Given the description of an element on the screen output the (x, y) to click on. 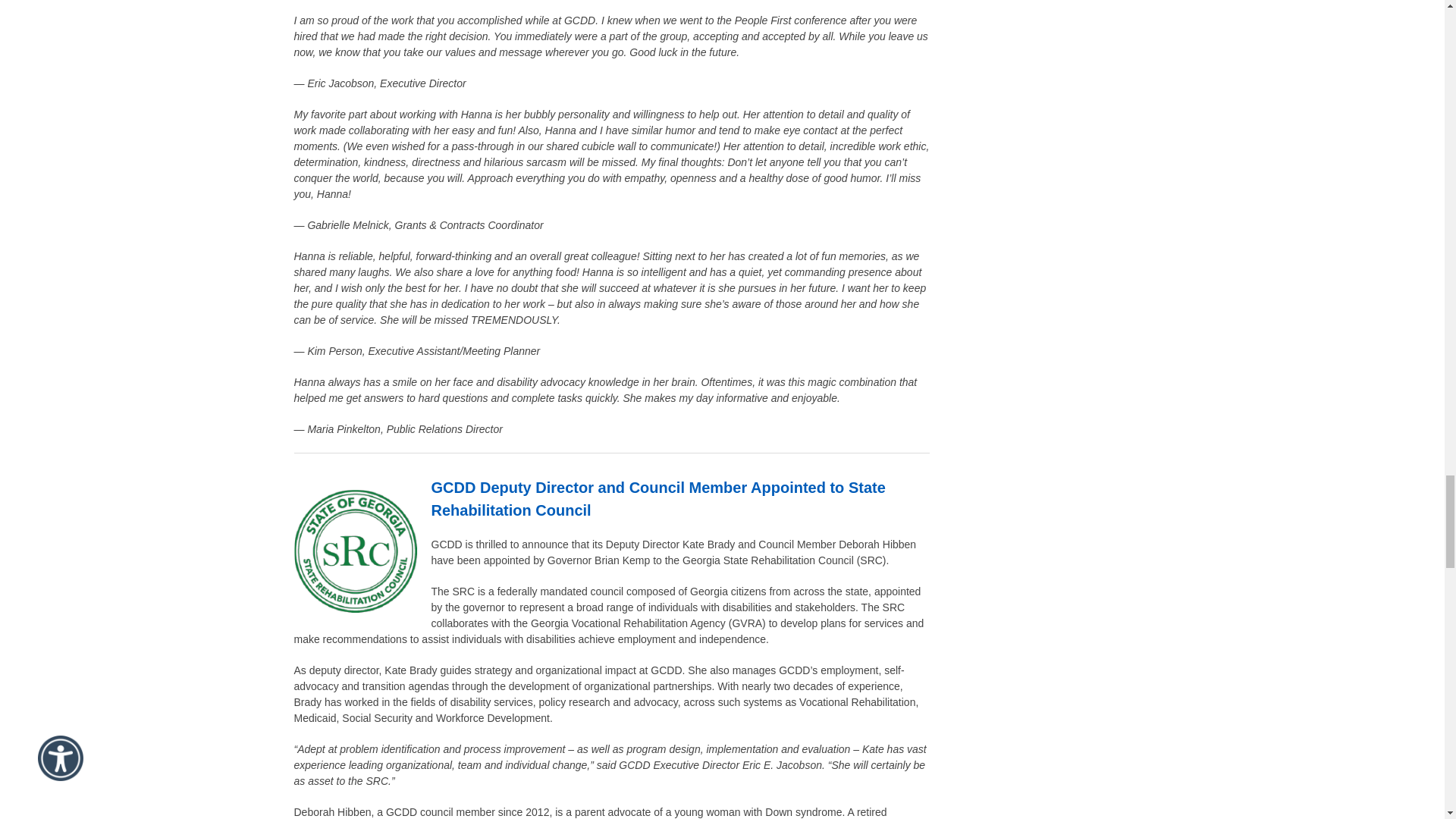
Kalel Le Denney with parents, Jennifer and Robert (355, 550)
